Given the description of an element on the screen output the (x, y) to click on. 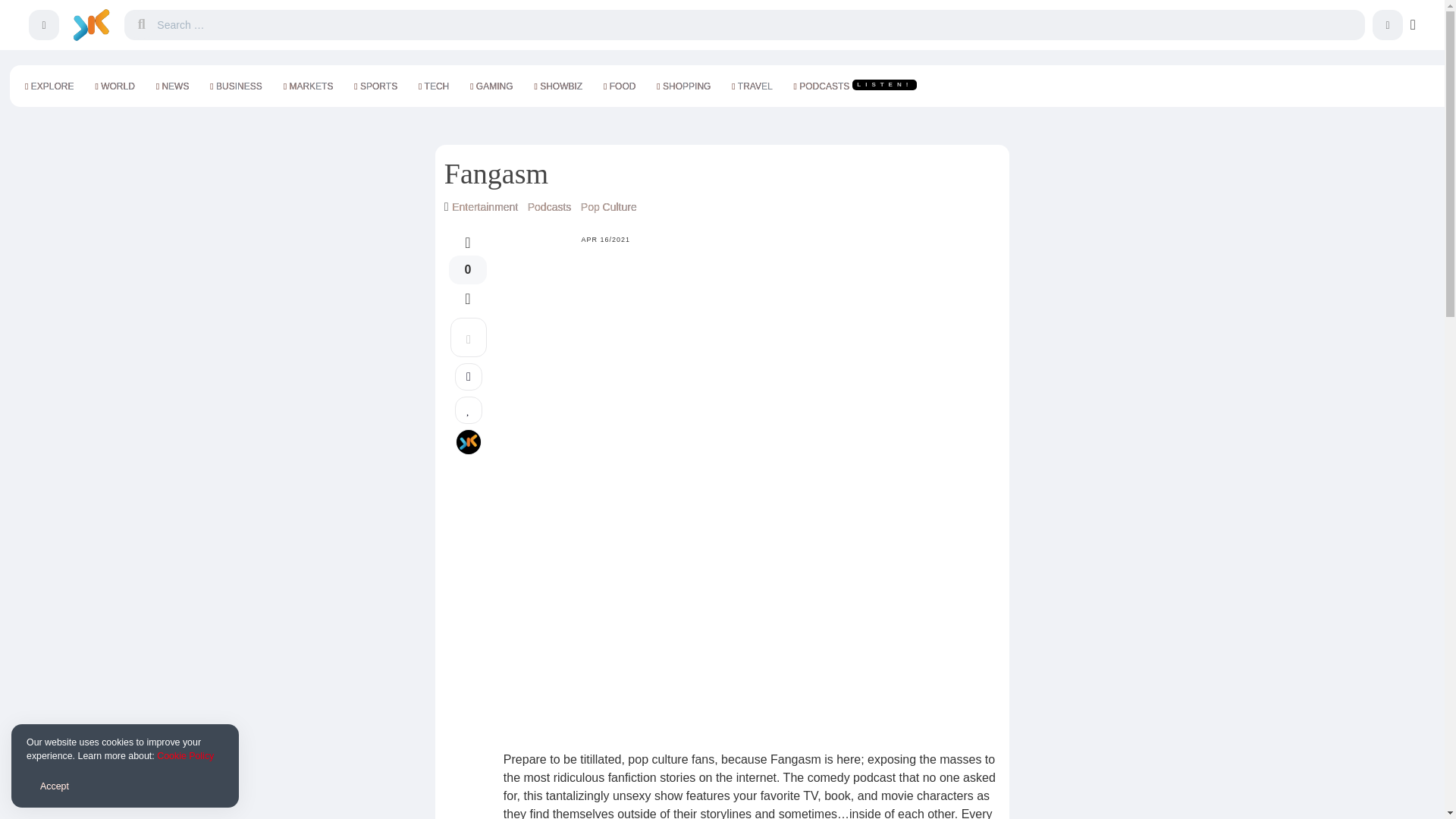
Search for: (757, 24)
SHOWBIZ (557, 86)
NEWS (172, 86)
BUSINESS (235, 86)
TECH (433, 86)
PODCASTSLISTEN! (855, 86)
MARKETS (308, 86)
GAMING (491, 86)
TRAVEL (751, 86)
SPORTS (375, 86)
EXPLORE (49, 86)
WORLD (113, 86)
SHOPPING (683, 86)
FOOD (619, 86)
